Given the description of an element on the screen output the (x, y) to click on. 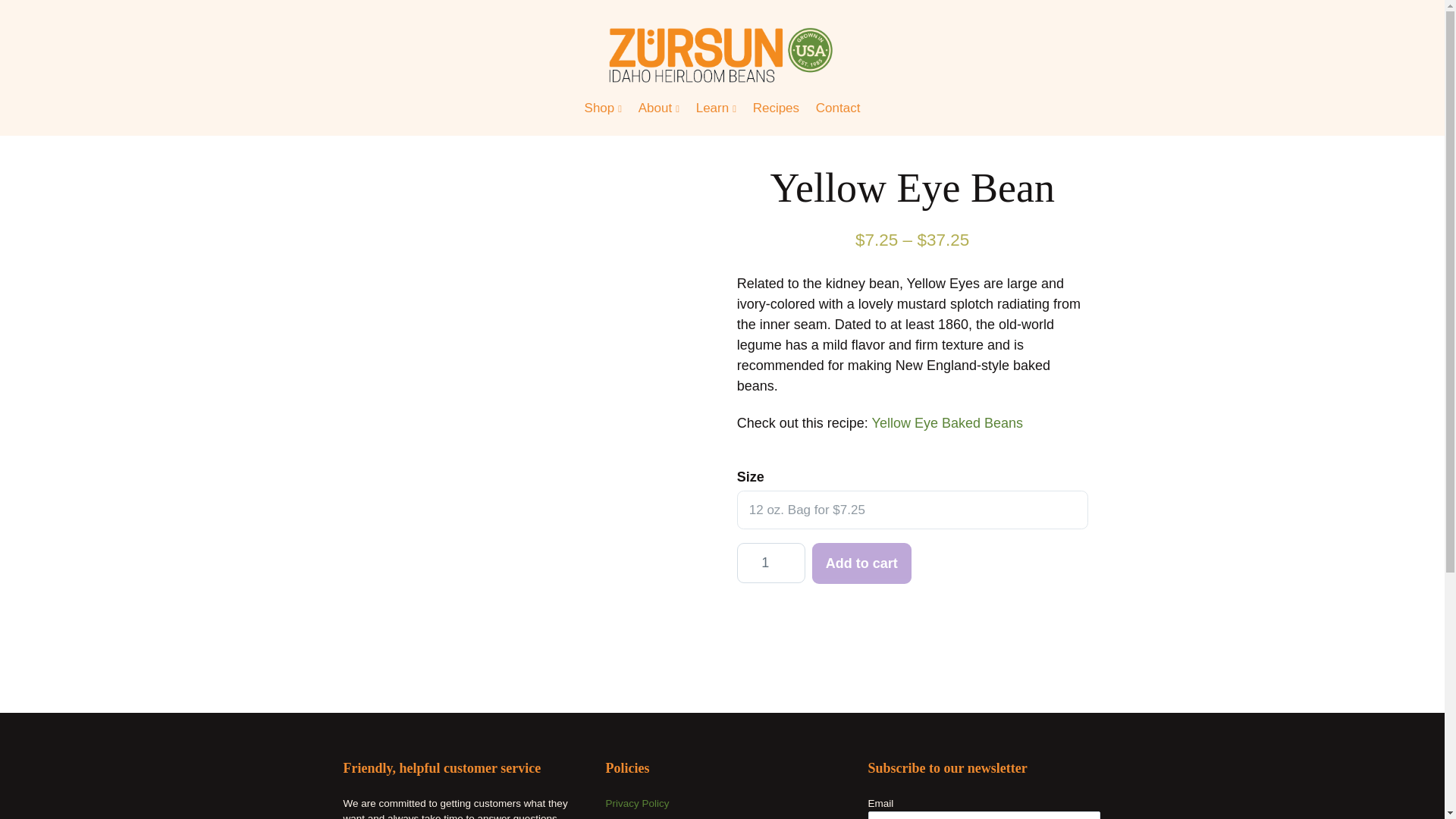
About (659, 108)
Privacy Policy (636, 803)
Terms and Conditions (654, 817)
Learn (715, 108)
Recipes (775, 108)
Yellow Eye Baked Beans (947, 422)
Add to cart (861, 562)
1 (770, 562)
Contact (837, 108)
Shop (603, 108)
